Given the description of an element on the screen output the (x, y) to click on. 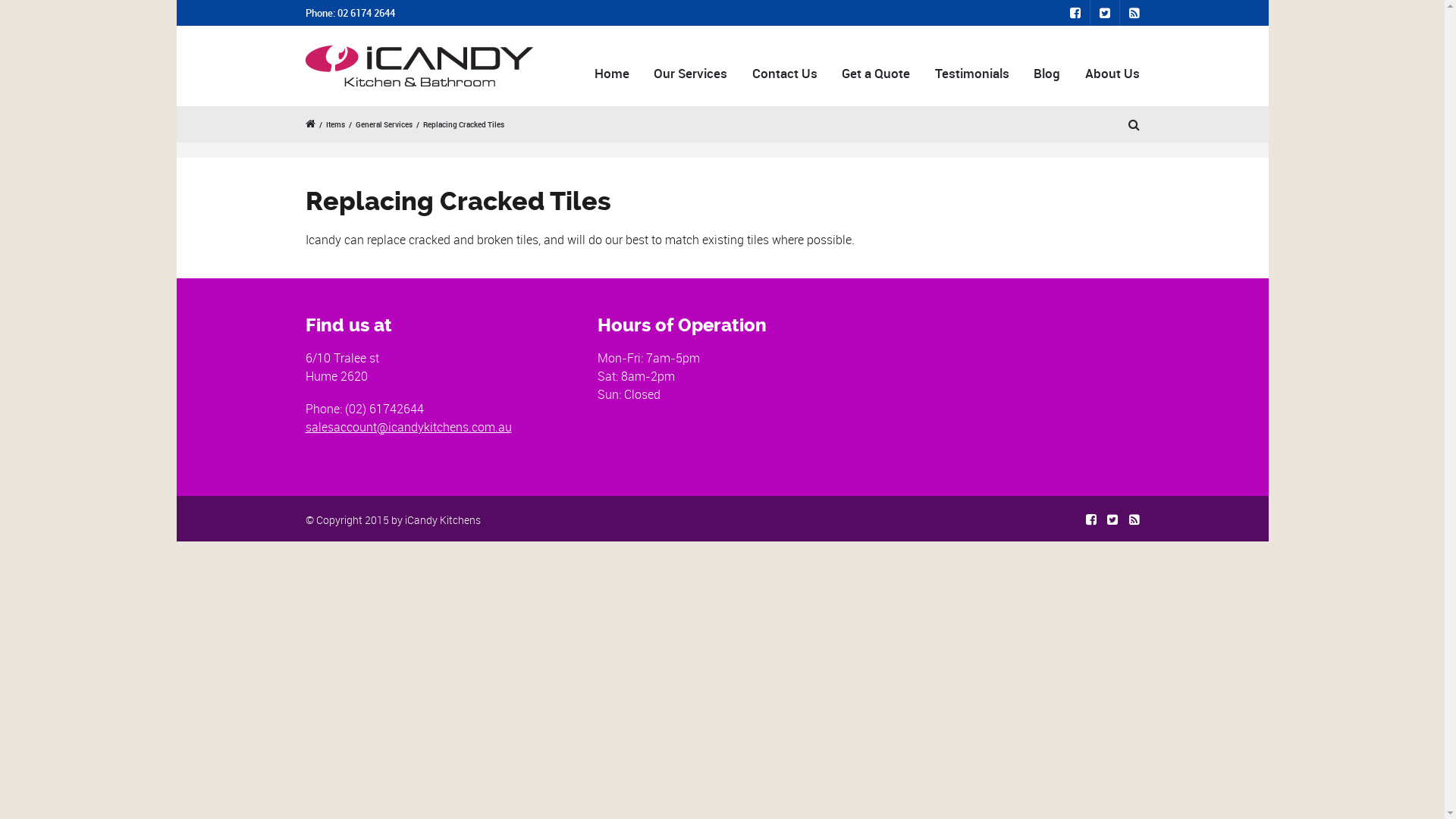
Testimonials Element type: text (971, 72)
iCandy Kitchens Element type: text (442, 519)
General Services Element type: text (382, 124)
Contact Us Element type: text (784, 72)
Get a Quote Element type: text (875, 72)
About Us Element type: text (1110, 72)
Items Element type: text (335, 124)
salesaccount@icandykitchens.com.au Element type: text (407, 426)
Our Services Element type: text (690, 72)
Blog Element type: text (1046, 72)
Home Element type: text (611, 72)
